Given the description of an element on the screen output the (x, y) to click on. 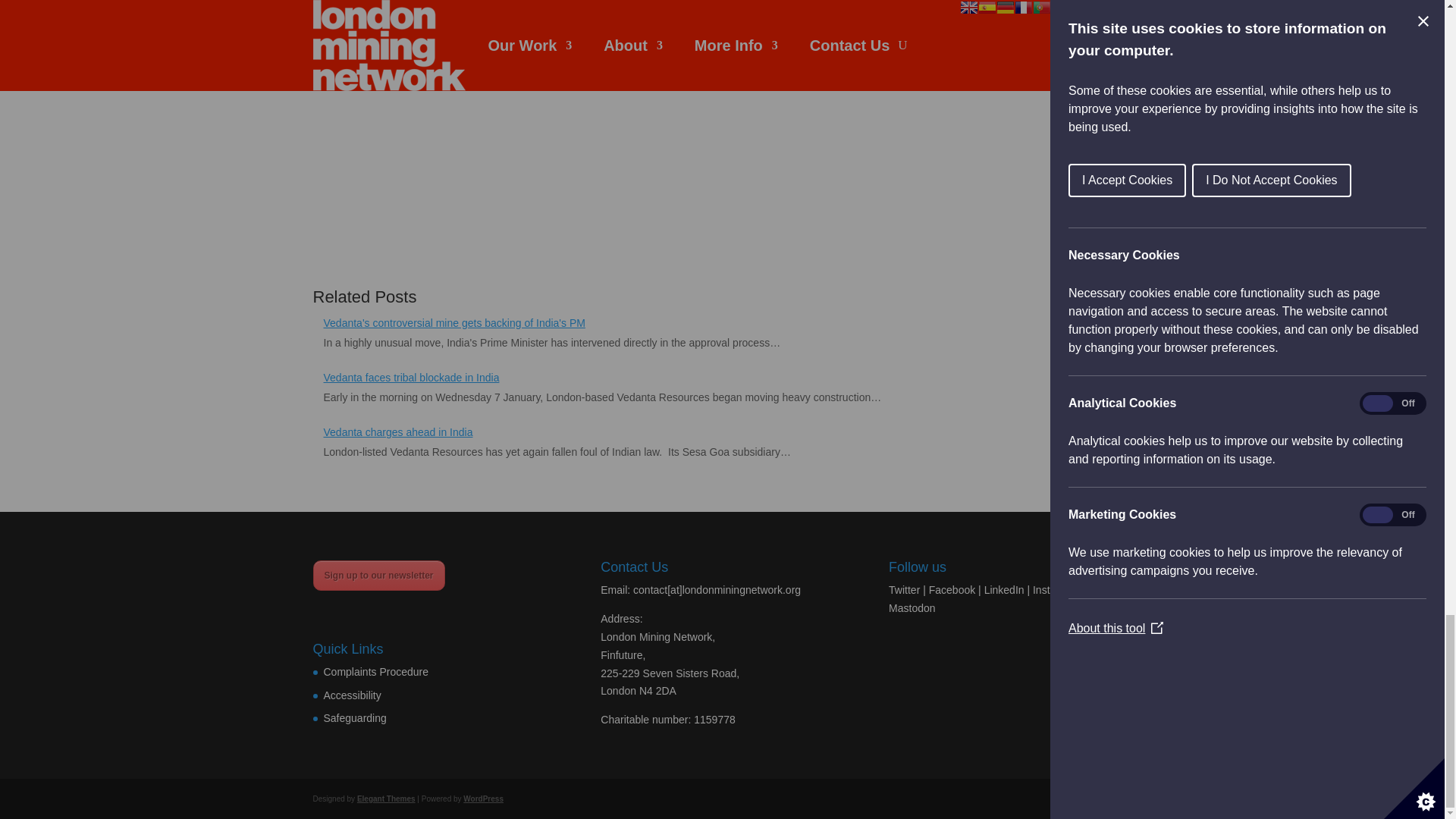
Premium WordPress Themes (385, 797)
6th december 2012 vedanta protest at india house in aldwych (537, 129)
